Given the description of an element on the screen output the (x, y) to click on. 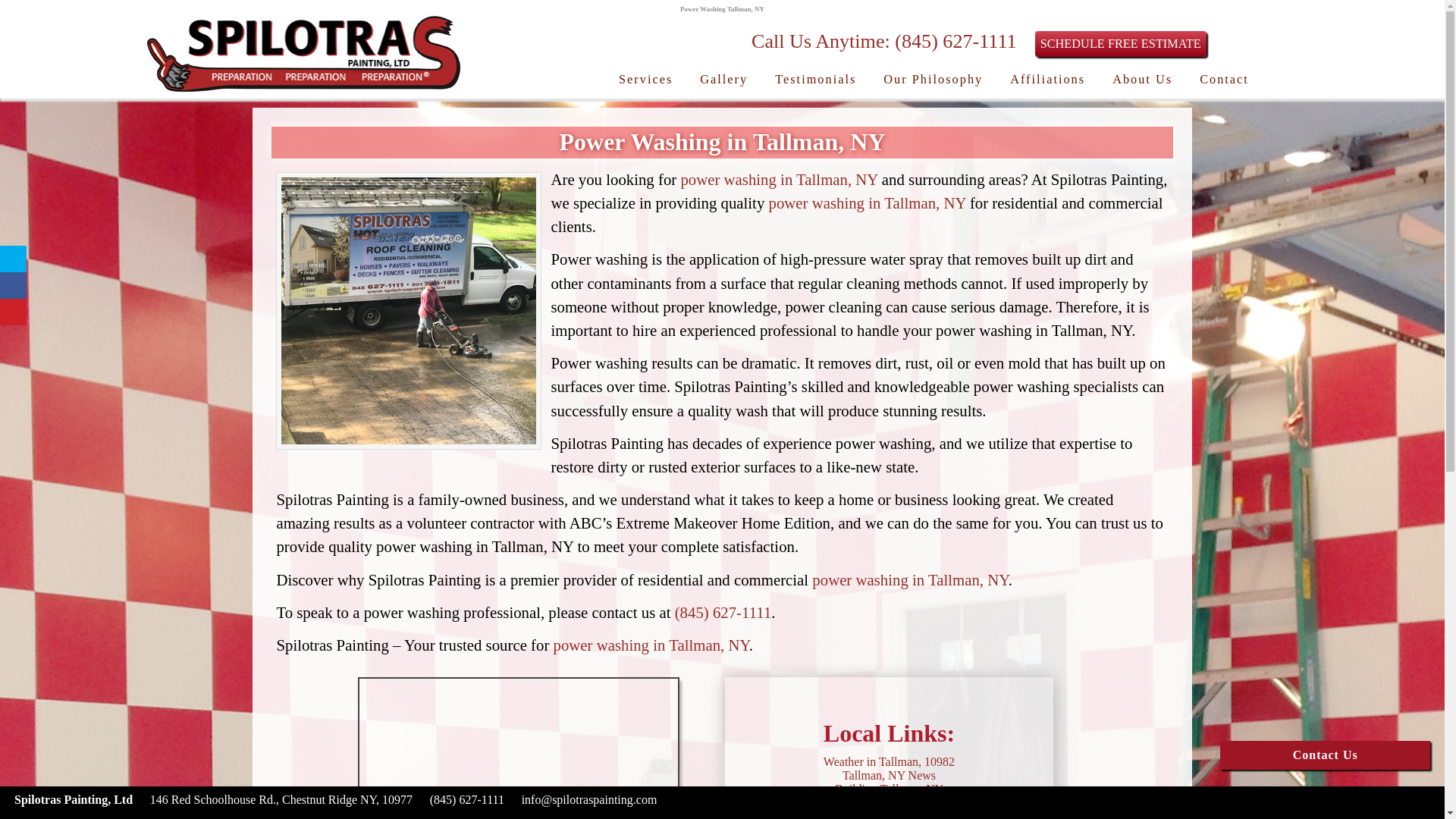
Share On Facebook (13, 284)
power washing in Tallman, NY (867, 202)
Testimonials (815, 79)
SCHEDULE FREE ESTIMATE (1121, 43)
Tallman, NY News (889, 775)
Affiliations (1047, 79)
Share On Pinterest (13, 311)
About Tallman, NY (889, 802)
Building Tallman, NY (888, 788)
Contact (1224, 79)
Services (645, 79)
Commute and Transportation in Tallman, 10982 (889, 814)
Spilotras Painting, Ltd (302, 91)
Share On Twitter (13, 258)
About Us (1142, 79)
